Given the description of an element on the screen output the (x, y) to click on. 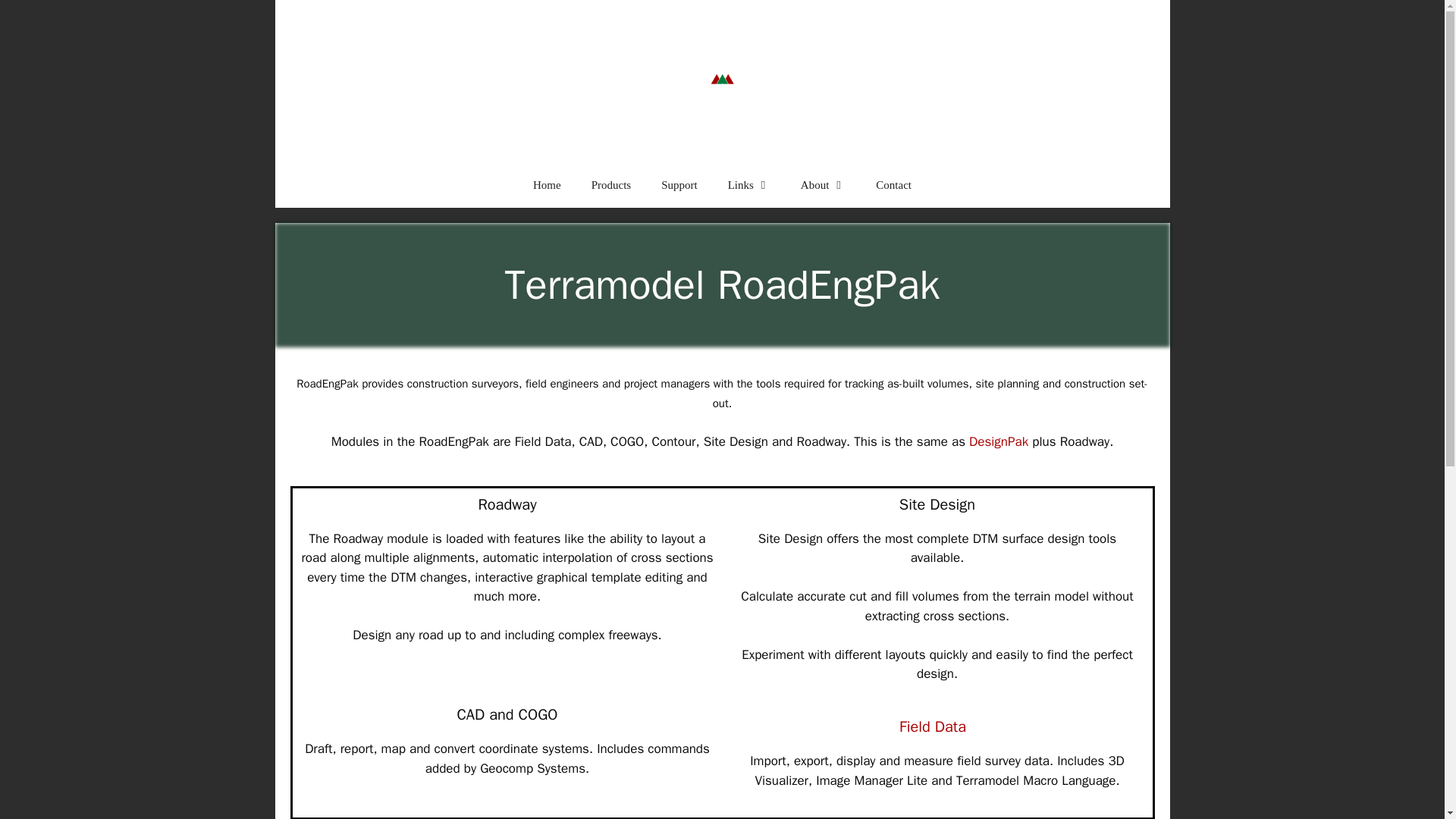
Home (547, 185)
DesignPak (998, 441)
Links (749, 185)
Support (679, 185)
Contact (893, 185)
Geocomp Systems (721, 50)
About (823, 185)
 Geocomp Systems (721, 100)
Products (611, 185)
 Geocomp Systems (721, 101)
Field Data (932, 726)
